Given the description of an element on the screen output the (x, y) to click on. 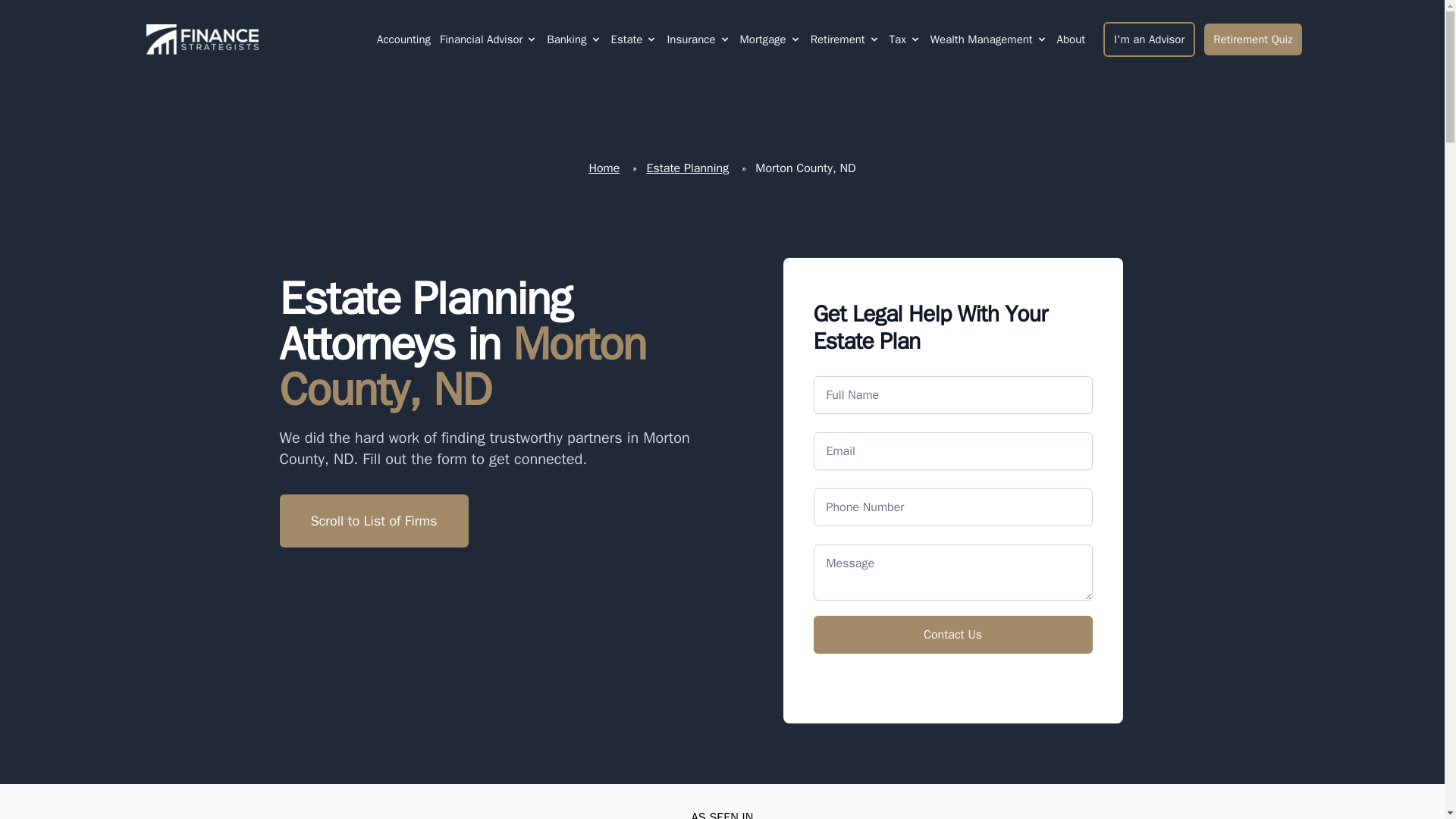
Accounting (403, 39)
Accounting (403, 39)
Financial Advisor (480, 39)
Banking (566, 39)
Finance Strategists (199, 39)
Financial Advisor (488, 39)
Banking (573, 39)
